Given the description of an element on the screen output the (x, y) to click on. 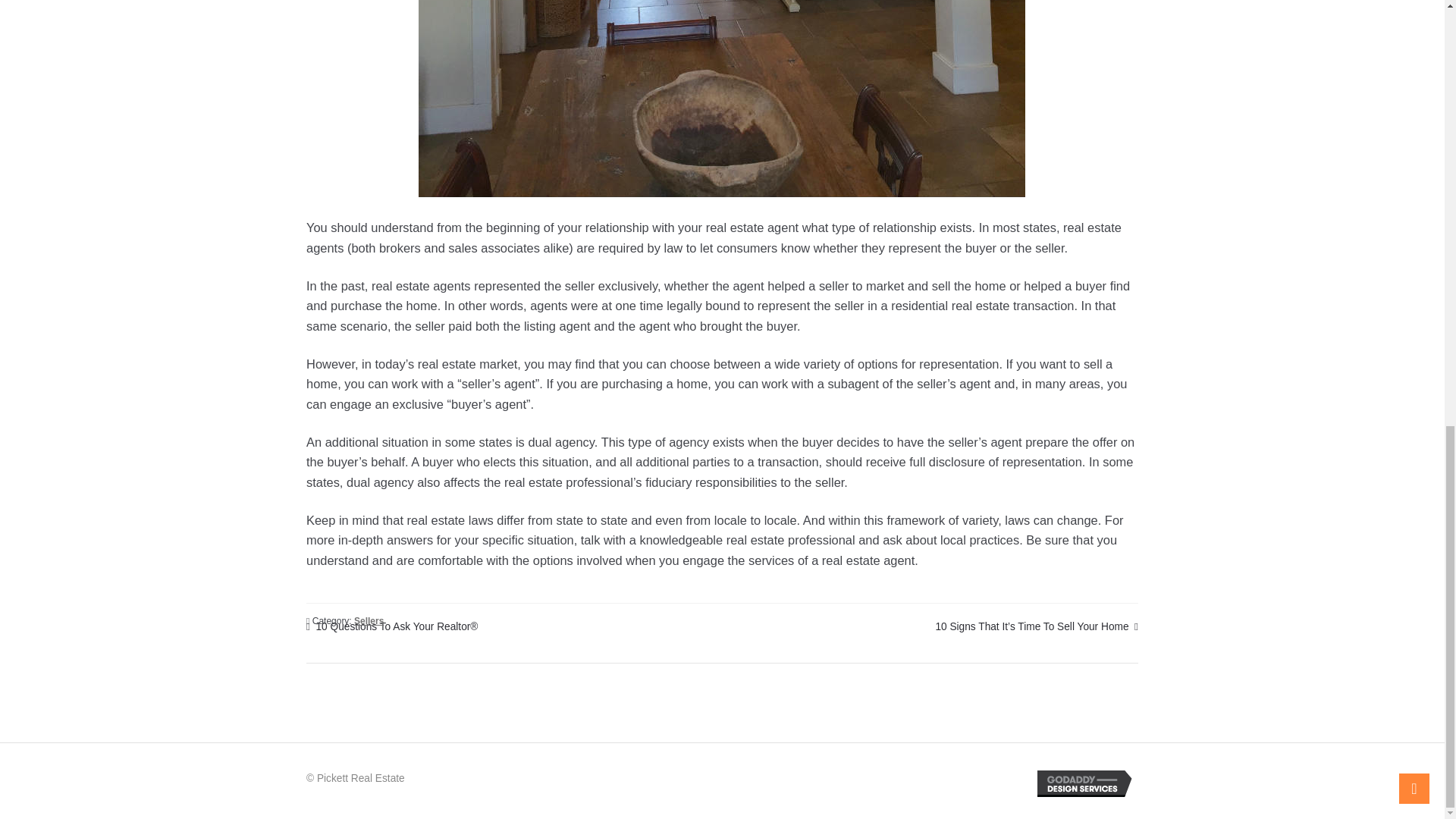
Sellers (368, 620)
